Given the description of an element on the screen output the (x, y) to click on. 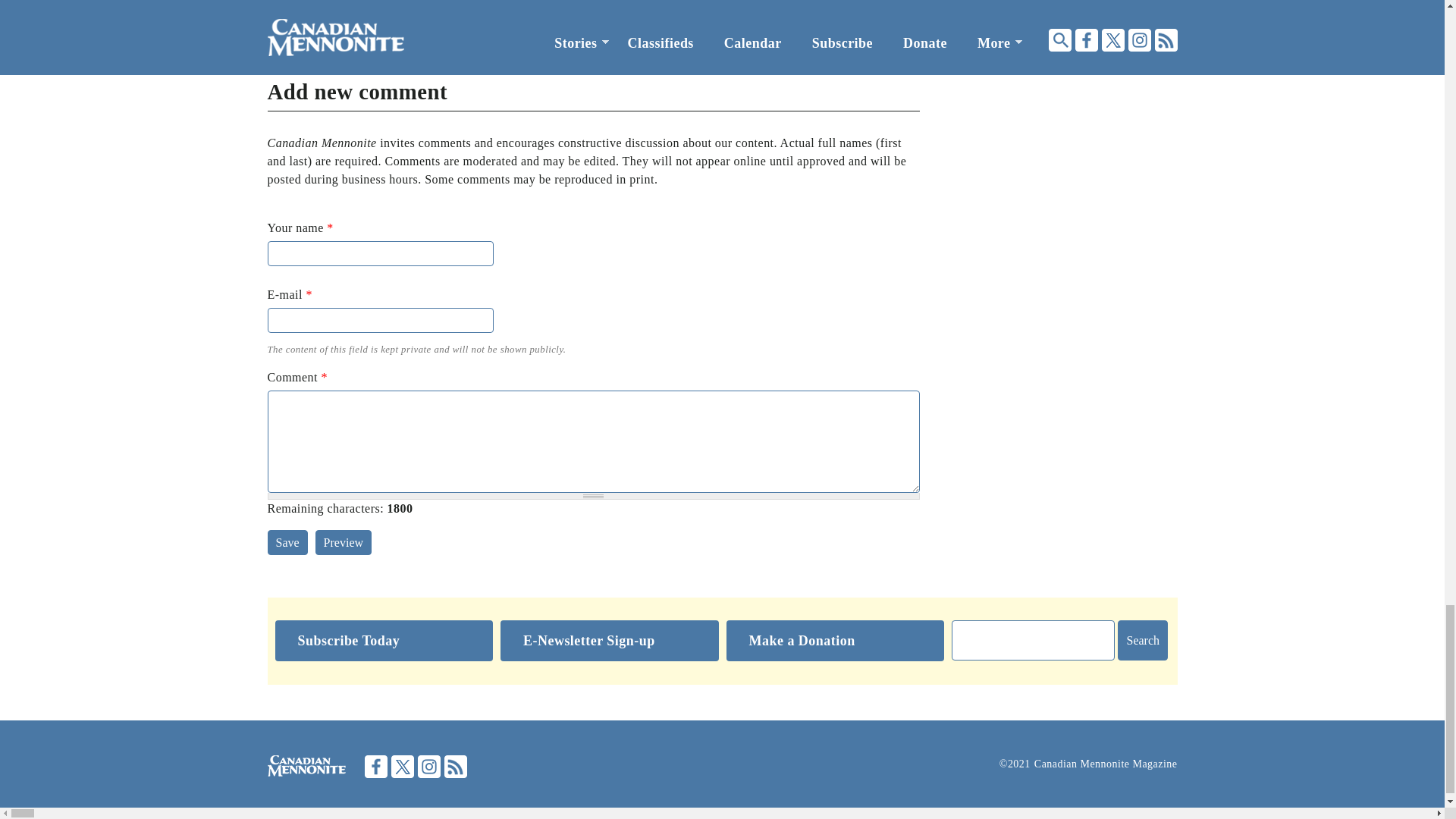
Save (286, 542)
Preview (343, 542)
Search (1142, 639)
